Given the description of an element on the screen output the (x, y) to click on. 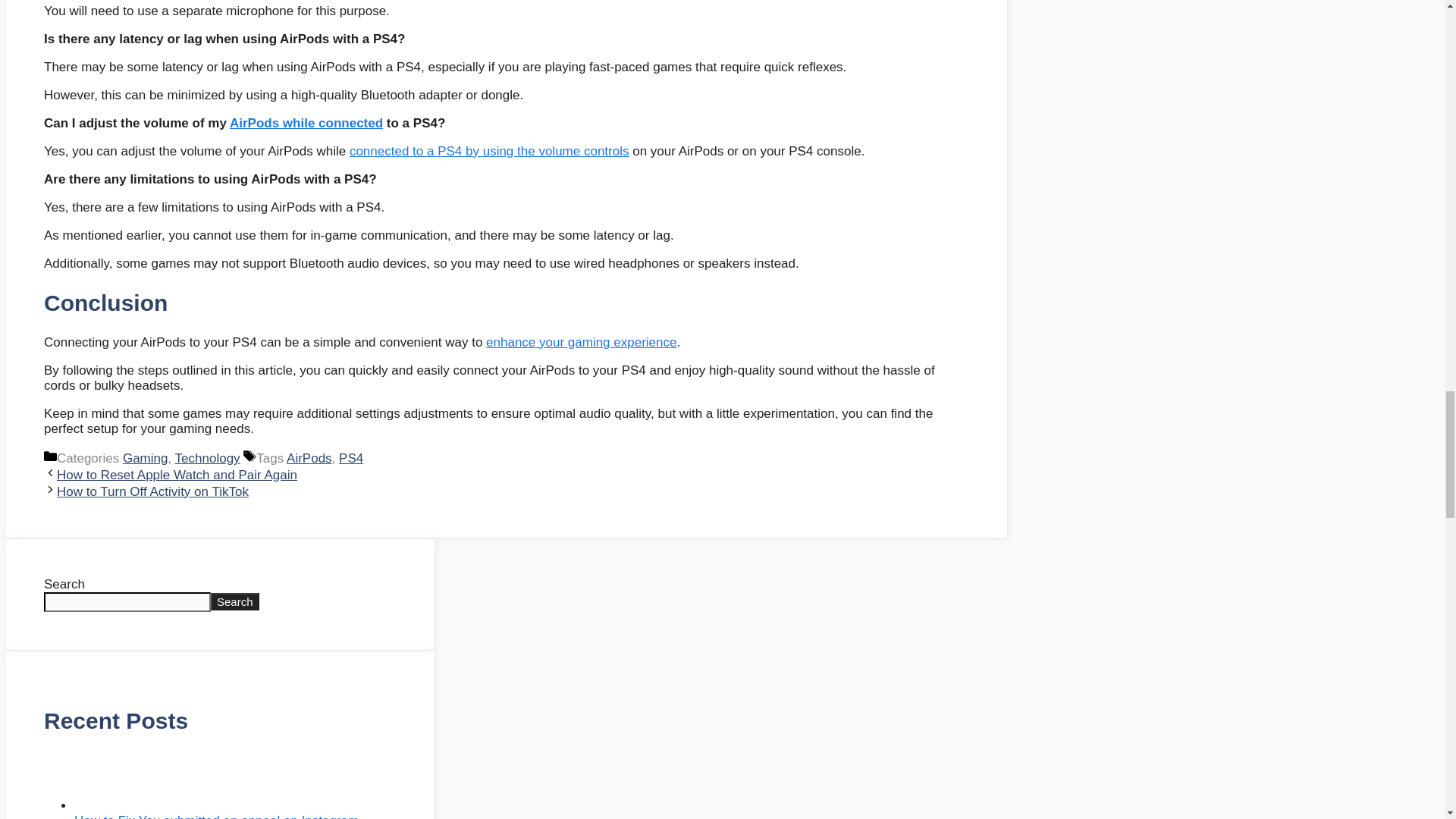
Gaming (145, 458)
How to Fix You submitted an appeal on Instagram (216, 816)
AirPods while connected (306, 123)
enhance your gaming experience (581, 341)
Search (235, 601)
How to Reset Apple Watch and Pair Again (176, 474)
connected to a PS4 by using the volume controls (488, 151)
PS4 (350, 458)
Technology (207, 458)
AirPods (308, 458)
How to Turn Off Activity on TikTok (152, 491)
